Given the description of an element on the screen output the (x, y) to click on. 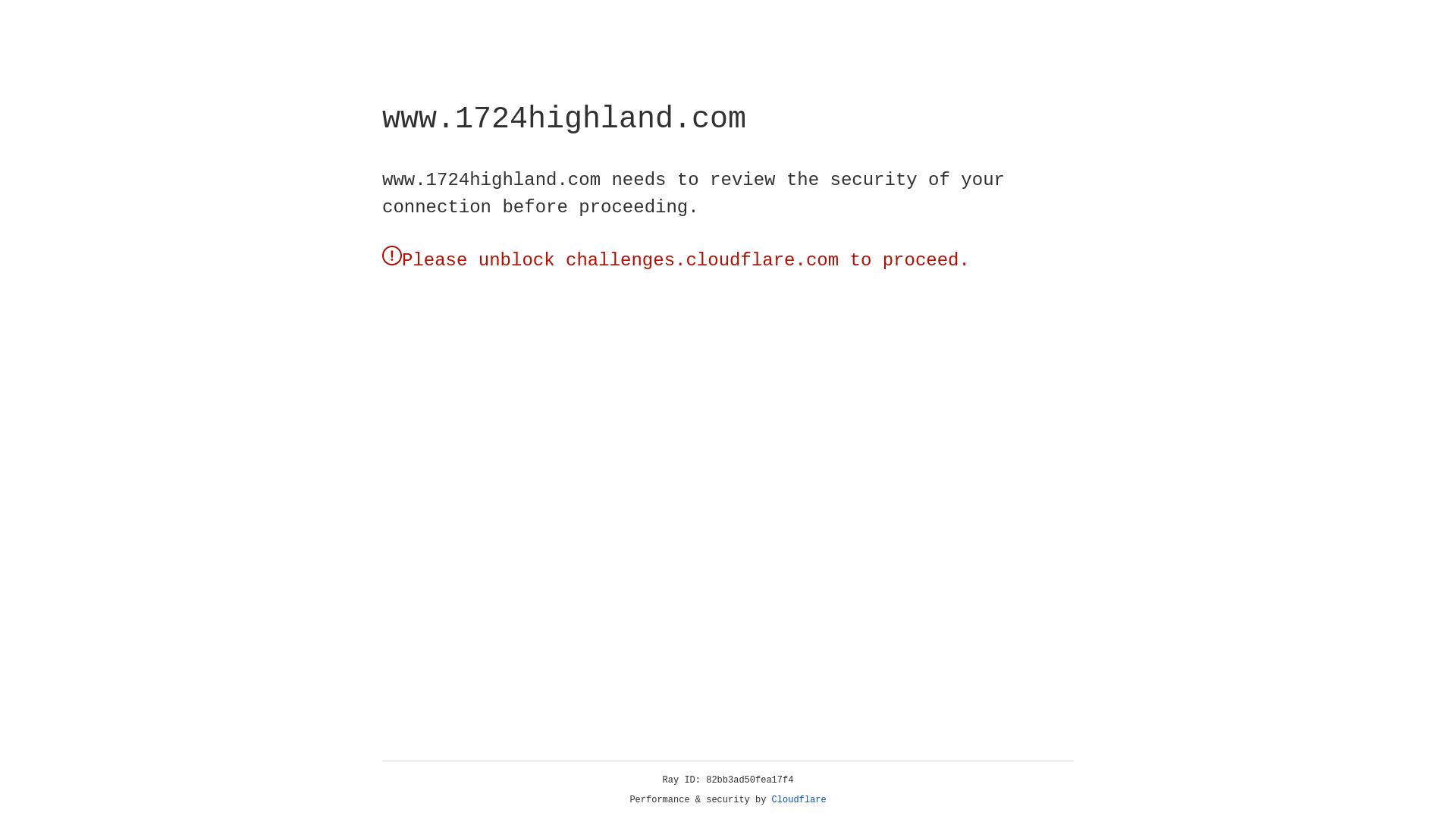
Cloudflare Element type: text (798, 799)
